Given the description of an element on the screen output the (x, y) to click on. 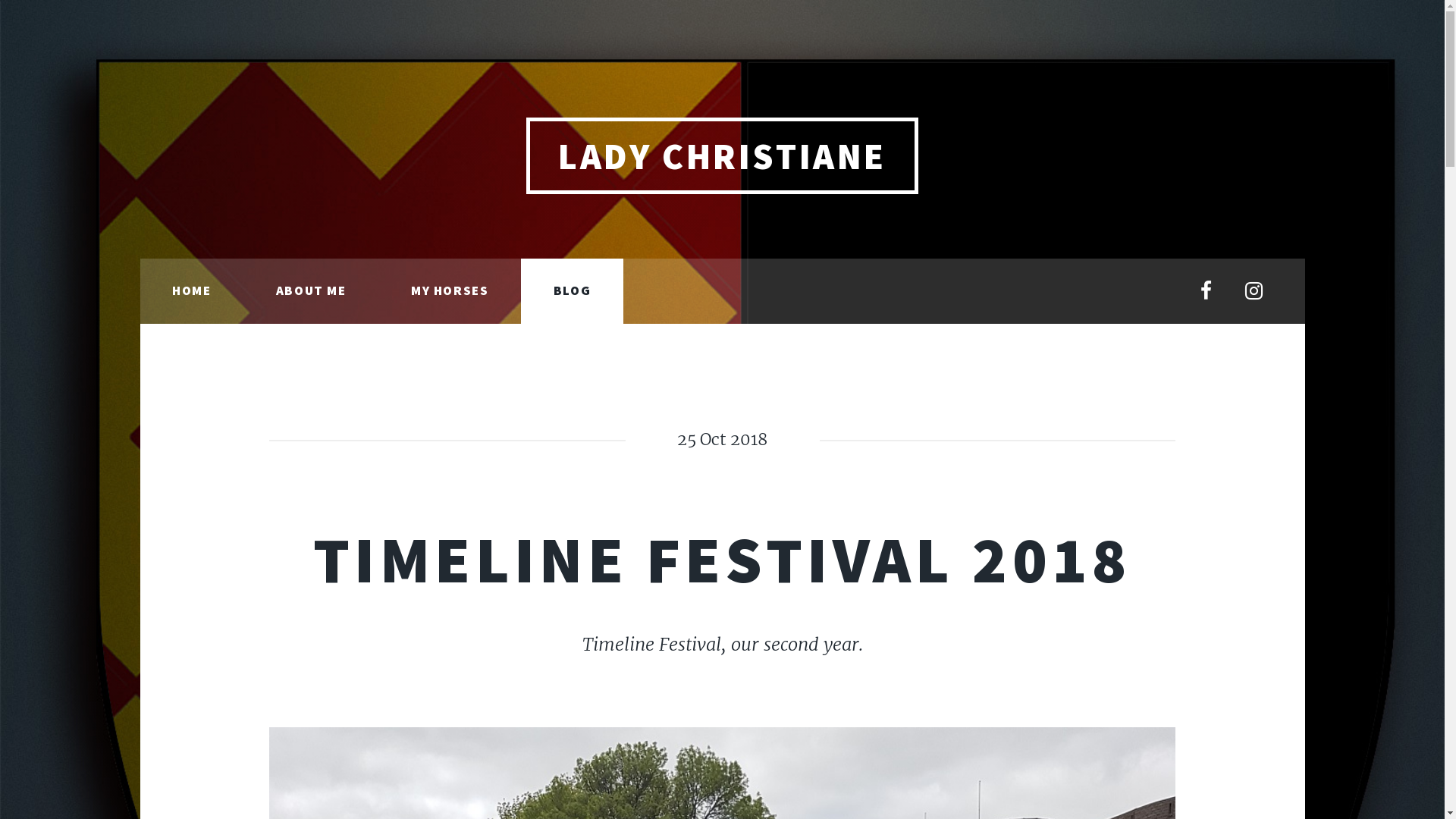
BLOG Element type: text (571, 290)
HOME Element type: text (191, 290)
LADY CHRISTIANE Element type: text (722, 155)
ABOUT ME Element type: text (310, 290)
MY HORSES Element type: text (449, 290)
